Given the description of an element on the screen output the (x, y) to click on. 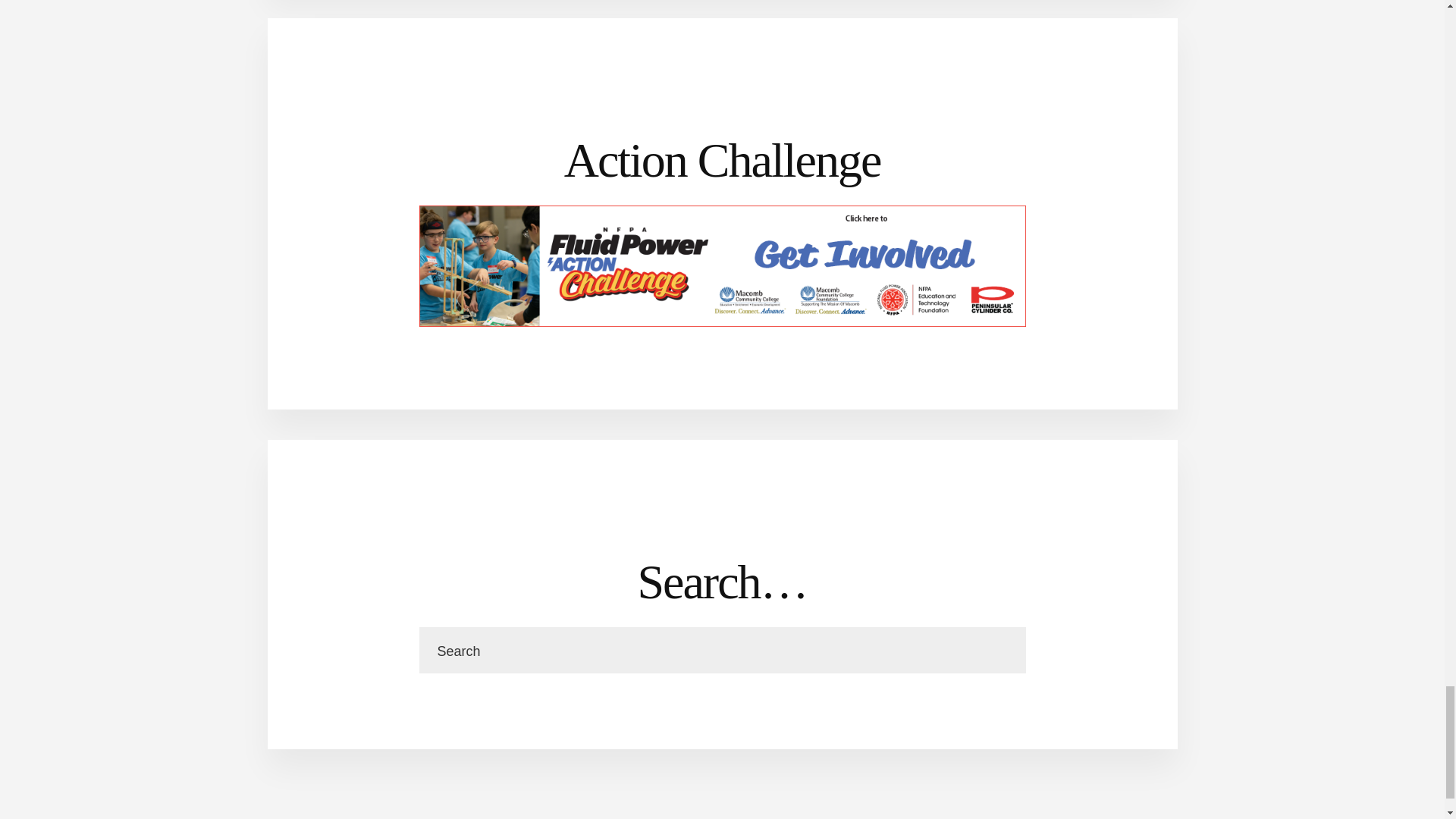
Fluid Power Action Challenge (722, 265)
Fluid-Power-Action-Challenge-Get-Involved (722, 321)
